Given the description of an element on the screen output the (x, y) to click on. 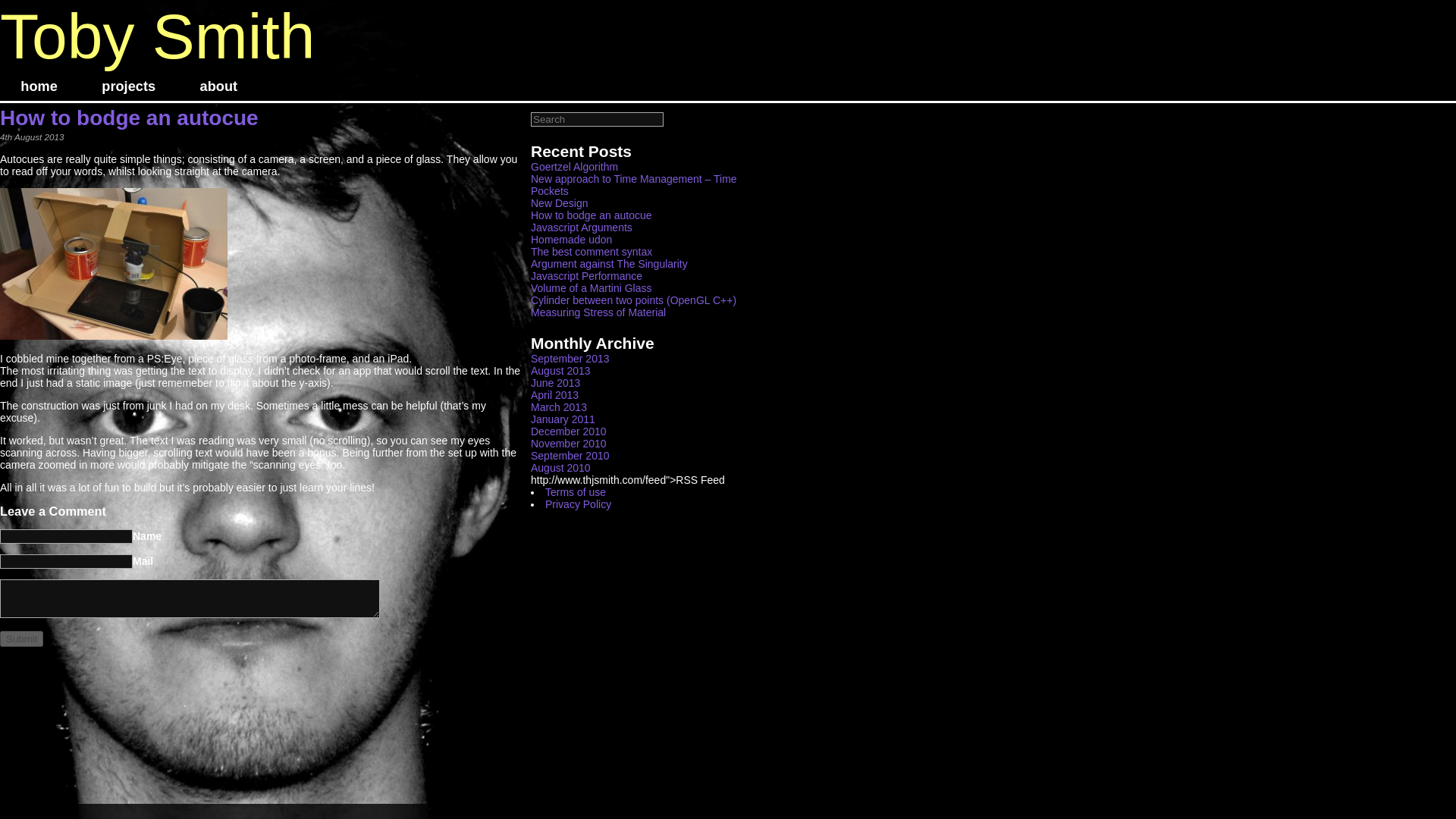
August 2010 (561, 467)
Volume of a Martini Glass (591, 287)
August 2013 (561, 370)
How to bodge an autocue (591, 215)
December 2010 (569, 431)
about (218, 86)
Privacy Policy (577, 503)
Javascript Arguments (581, 227)
The best comment syntax (591, 251)
How to bodge an autocue (129, 117)
November 2010 (569, 443)
Submit (21, 638)
April 2013 (554, 395)
September 2013 (570, 358)
Javascript Performance (586, 275)
